Given the description of an element on the screen output the (x, y) to click on. 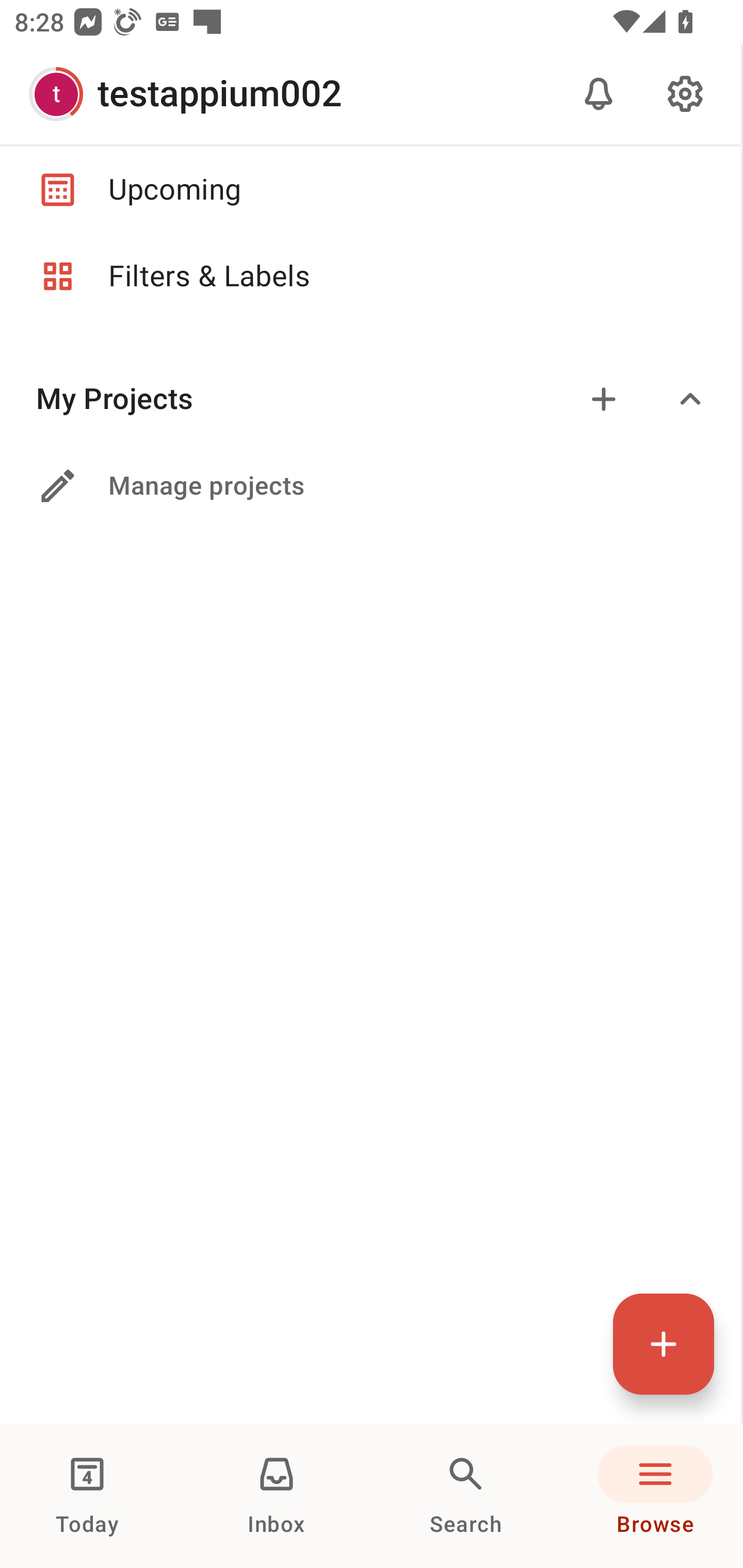
Notifications (598, 93)
Settings (684, 93)
Upcoming (370, 189)
Filters & Labels (370, 276)
My Projects Add Expand/collapse (370, 398)
Add (603, 398)
Expand/collapse (690, 398)
Manage projects (370, 485)
Quick add (663, 1343)
Today (87, 1495)
Inbox (276, 1495)
Search (465, 1495)
